Given the description of an element on the screen output the (x, y) to click on. 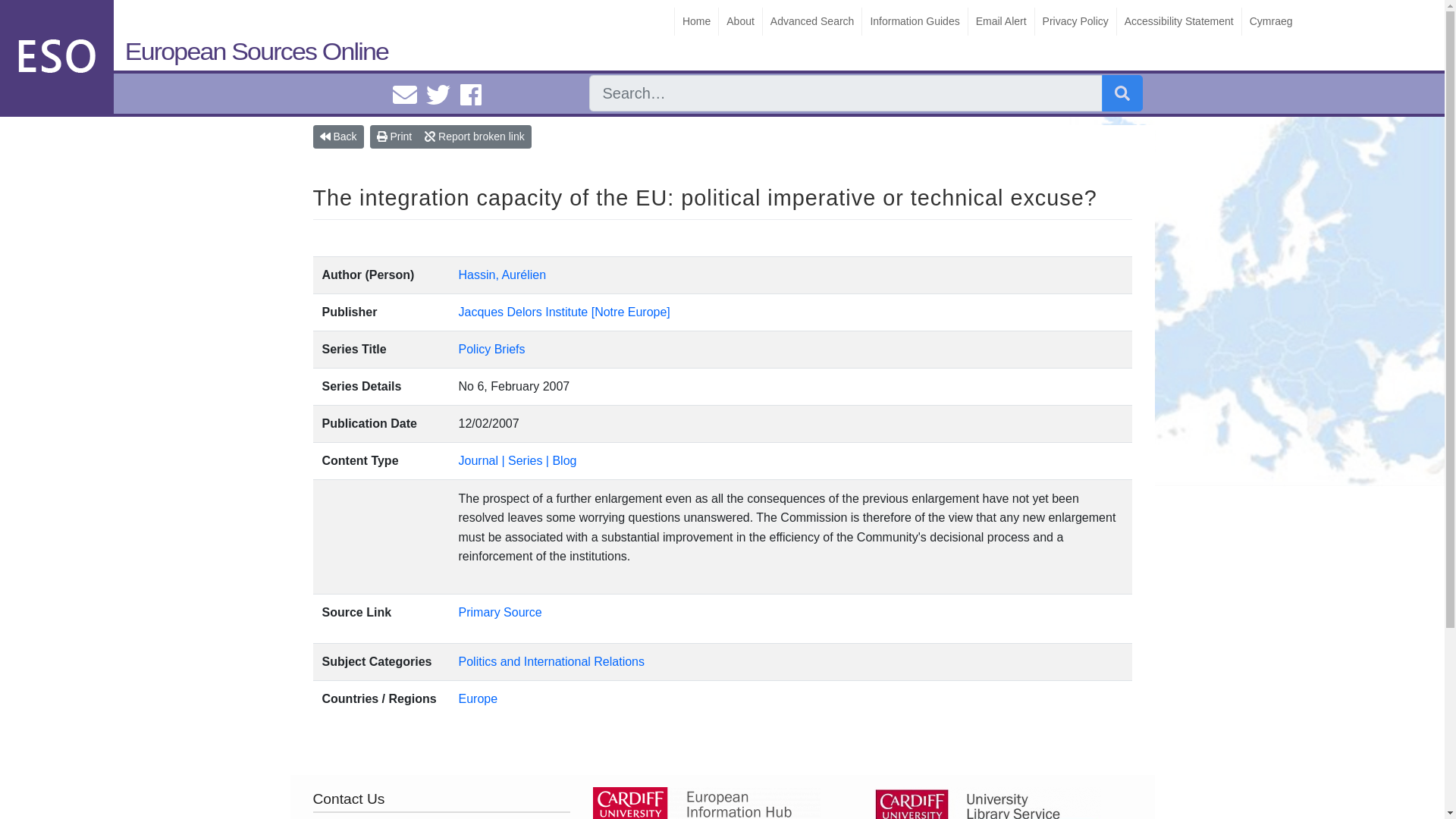
About (739, 21)
About (739, 21)
Primary Source (499, 612)
Information Guides (913, 21)
Home (695, 21)
Europe (477, 698)
Politics and International Relations (551, 661)
Advanced Search (811, 21)
Email Alert (1000, 21)
European Sources Online (197, 44)
